Given the description of an element on the screen output the (x, y) to click on. 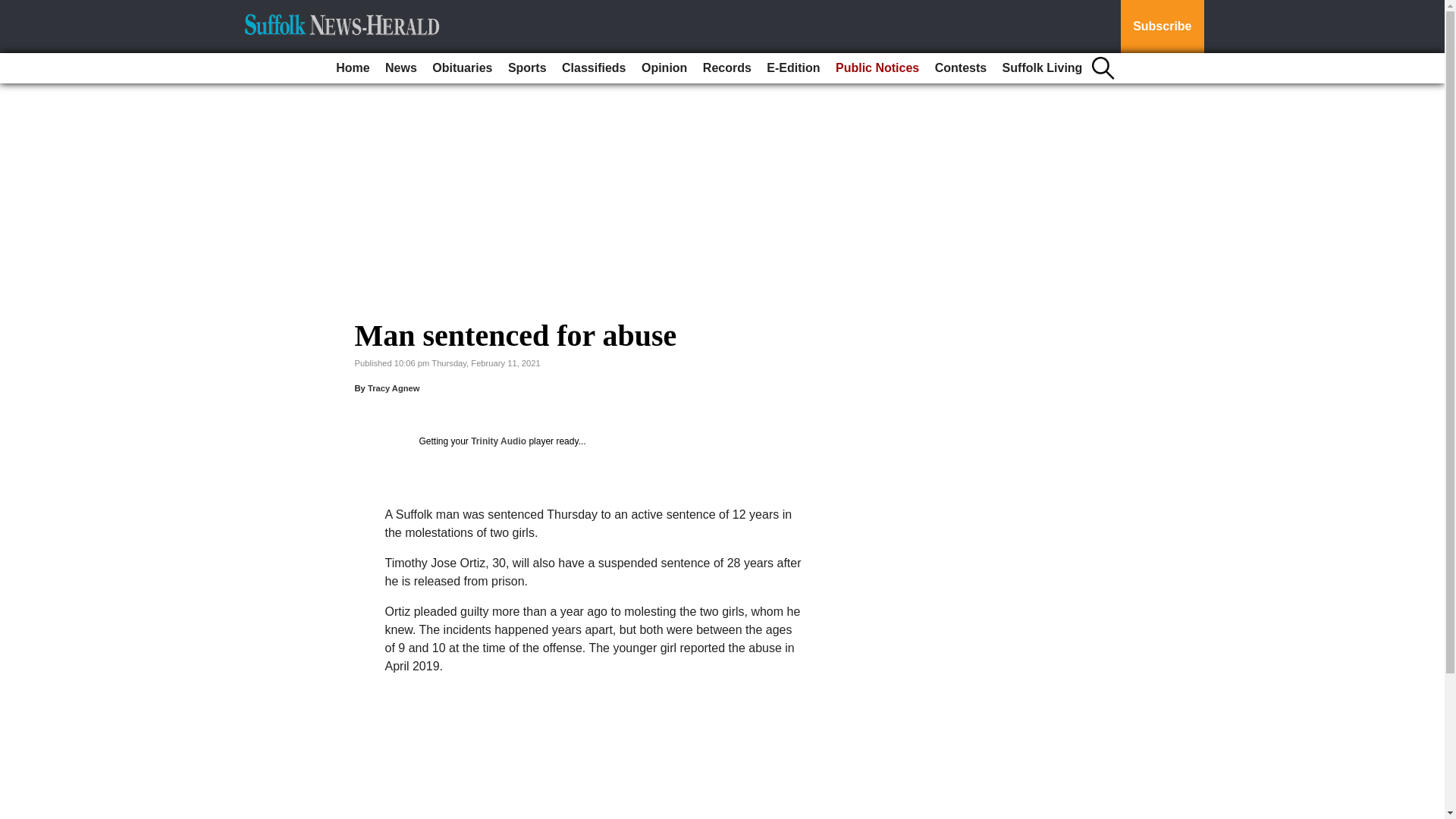
Records (727, 68)
Trinity Audio (497, 440)
Home (352, 68)
E-Edition (792, 68)
Obituaries (461, 68)
Contests (960, 68)
Go (13, 9)
Classifieds (593, 68)
News (400, 68)
Opinion (663, 68)
